Given the description of an element on the screen output the (x, y) to click on. 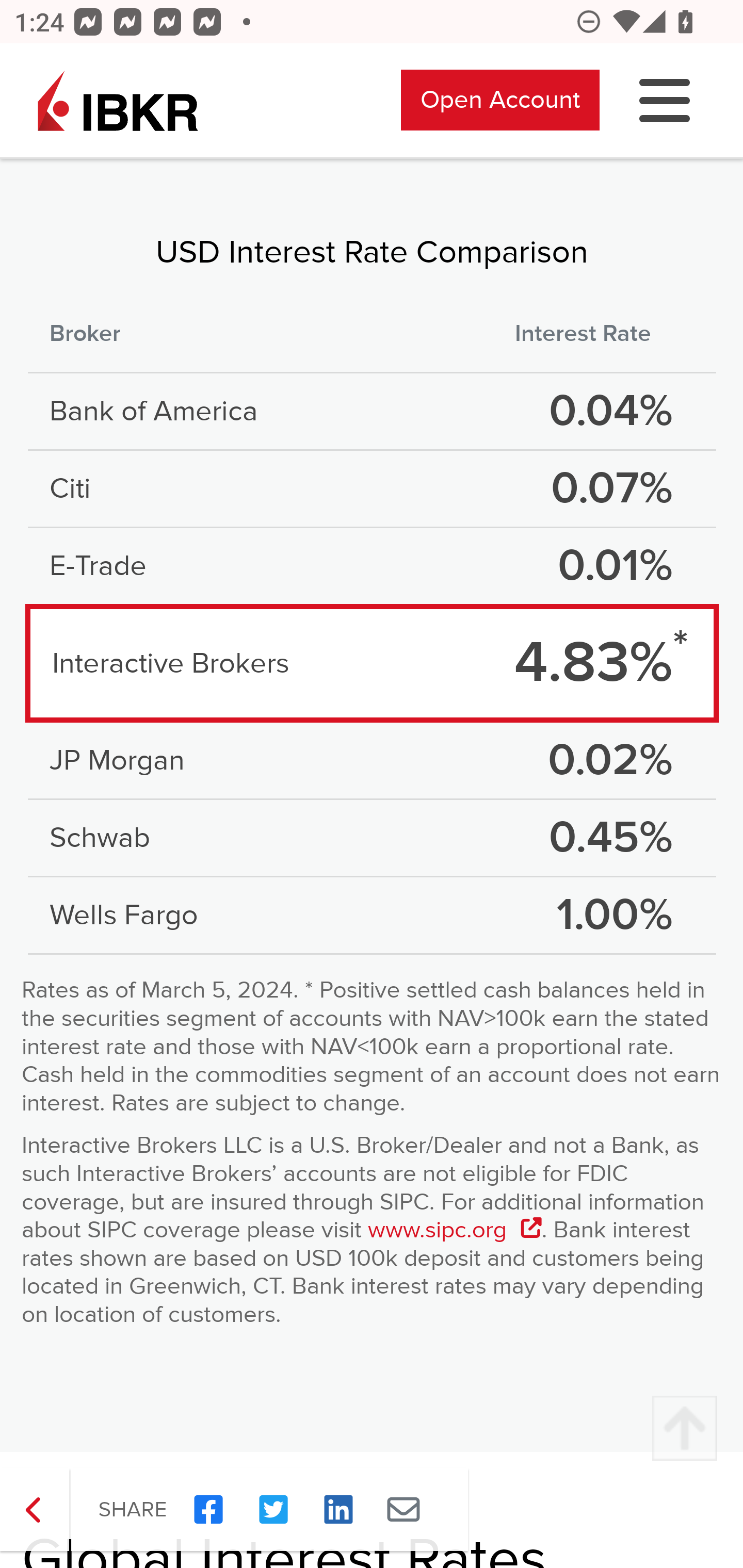
Interactive Brokers Home (117, 101)
Open Account (500, 100)
Toggle Navigation (665, 101)
www.sipc.org  www.sipc.org  (453, 1231)
To Top (684, 1428)
Share on Facebook  (208, 1509)
Share on Twitter  (272, 1509)
Share on Linkedin  (338, 1509)
Share by Email  (403, 1509)
